Given the description of an element on the screen output the (x, y) to click on. 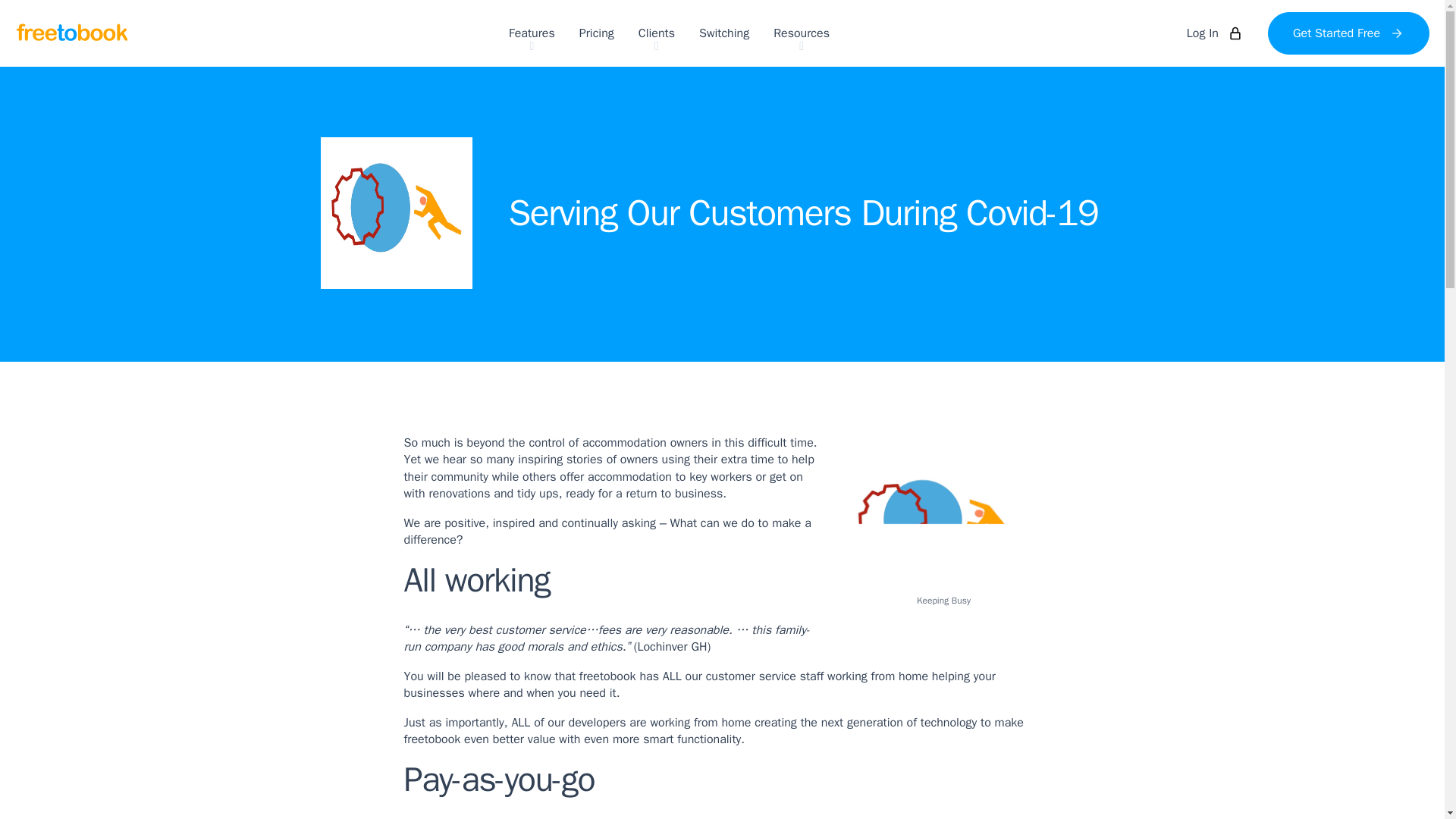
Switching (723, 32)
Get Started Free (1348, 33)
Log In (1214, 33)
Pricing (596, 32)
